Given the description of an element on the screen output the (x, y) to click on. 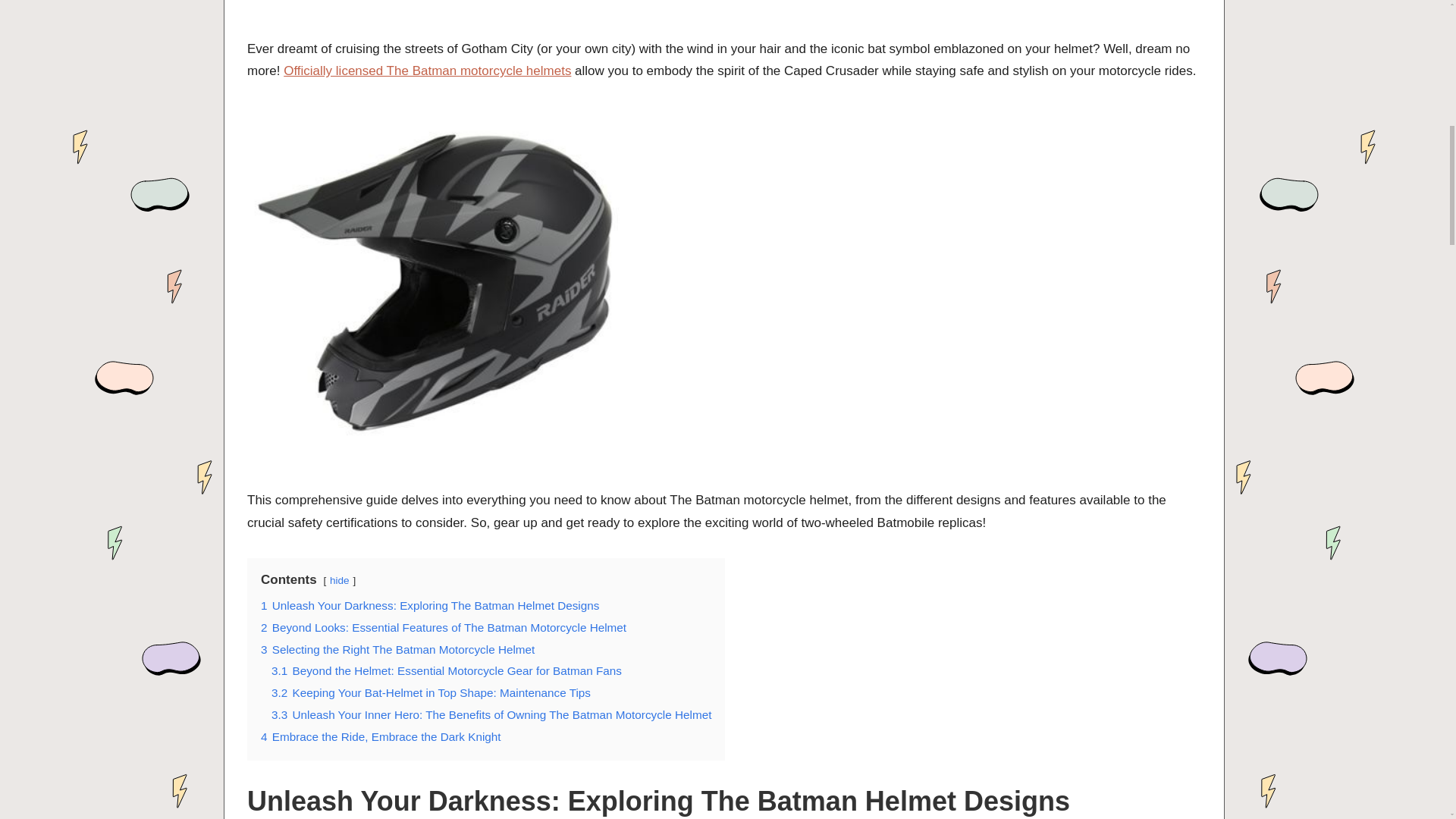
3 Selecting the Right The Batman Motorcycle Helmet (397, 649)
3.2 Keeping Your Bat-Helmet in Top Shape: Maintenance Tips (430, 692)
1 Unleash Your Darkness: Exploring The Batman Helmet Designs (429, 604)
4 Embrace the Ride, Embrace the Dark Knight (380, 736)
hide (339, 580)
Officially licensed The Batman motorcycle helmets (426, 70)
